Given the description of an element on the screen output the (x, y) to click on. 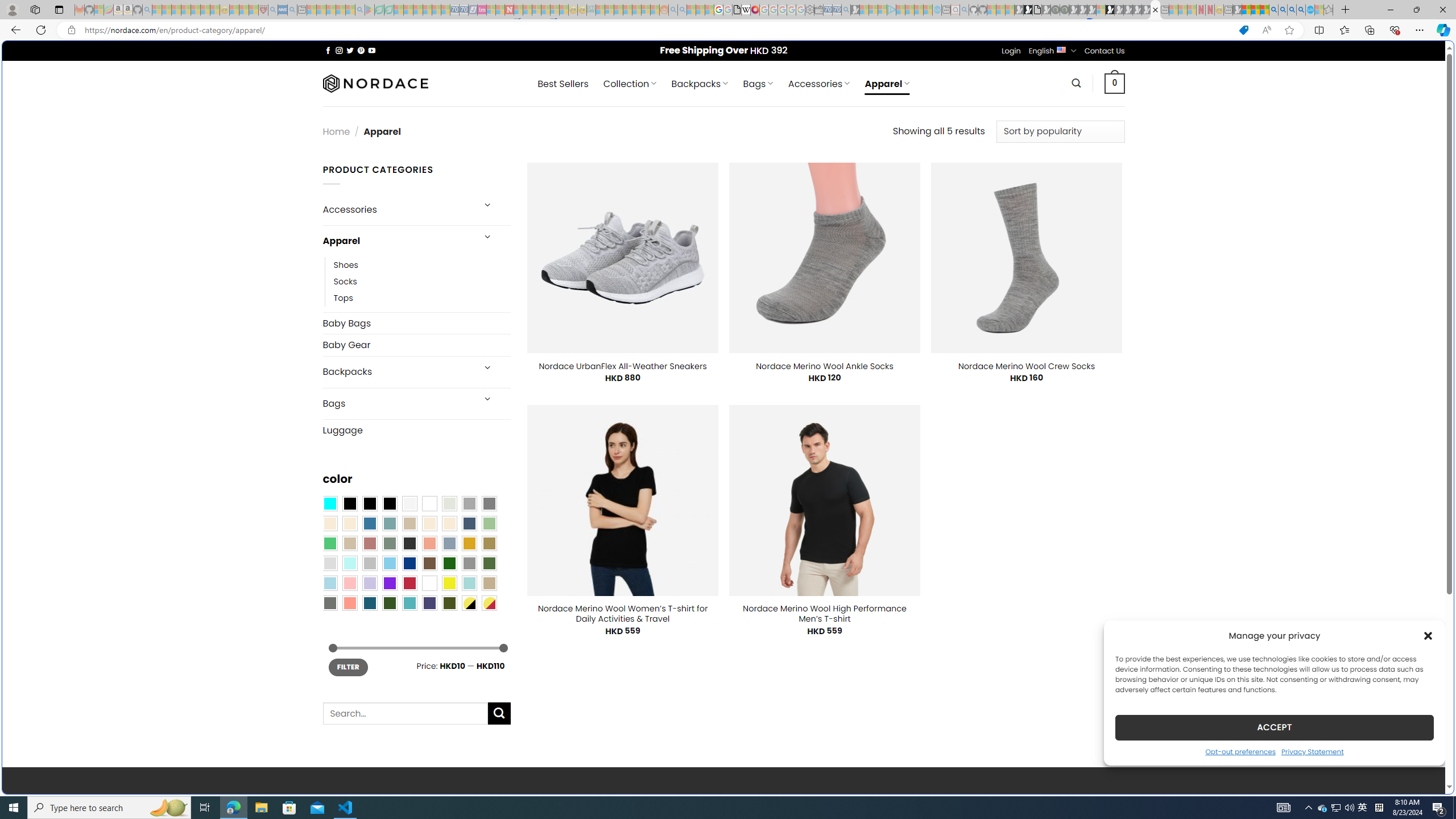
Light Purple (369, 582)
Aqua Blue (329, 503)
Beige-Brown (349, 522)
Yellow (449, 582)
Charcoal (408, 542)
